Given the description of an element on the screen output the (x, y) to click on. 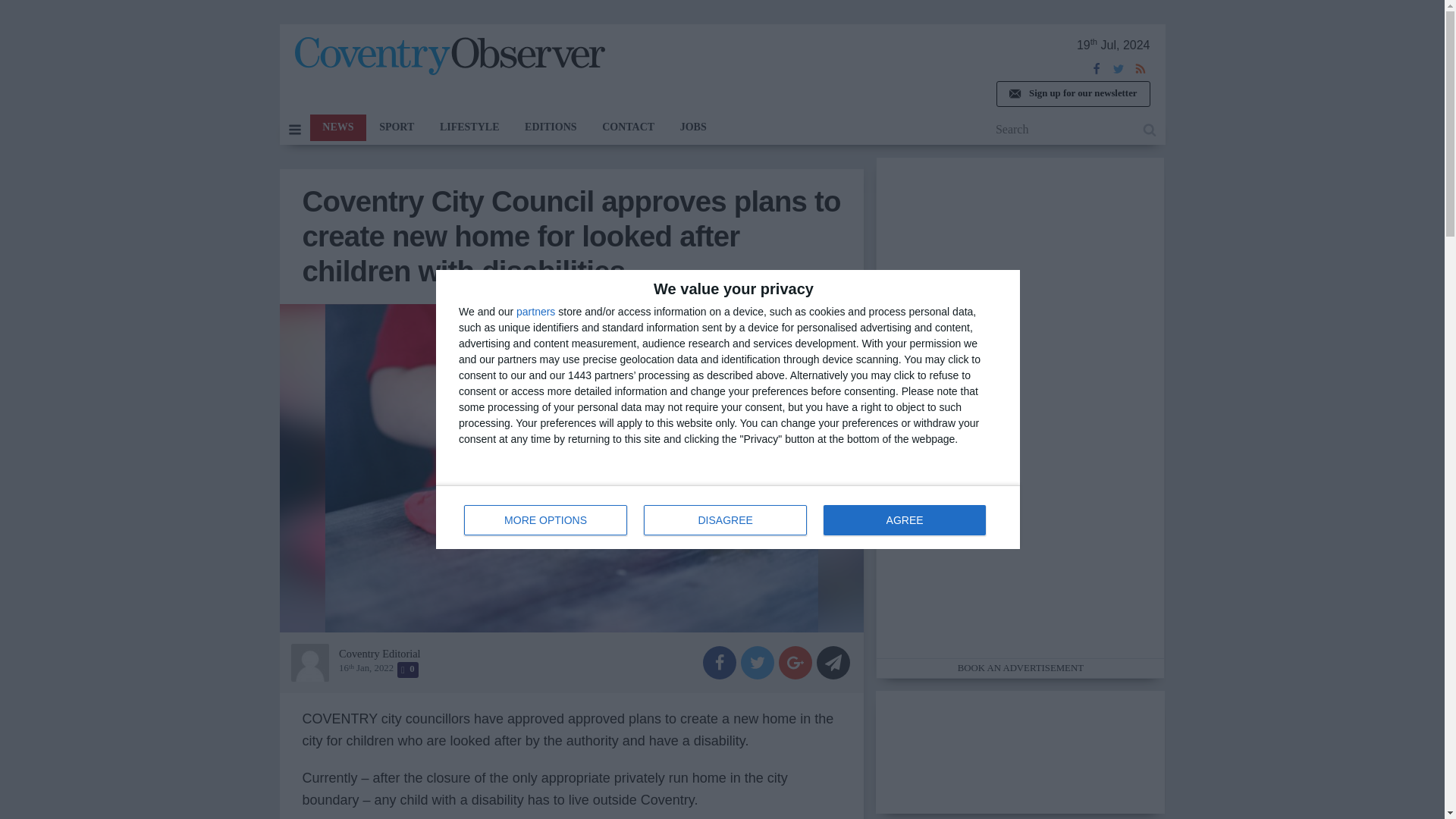
partners (535, 311)
The Coventry Observer (727, 516)
MORE OPTIONS (449, 55)
SPORT (545, 520)
AGREE (396, 127)
NEWS (904, 520)
  Sign up for our newsletter (337, 127)
DISAGREE (1072, 94)
